Given the description of an element on the screen output the (x, y) to click on. 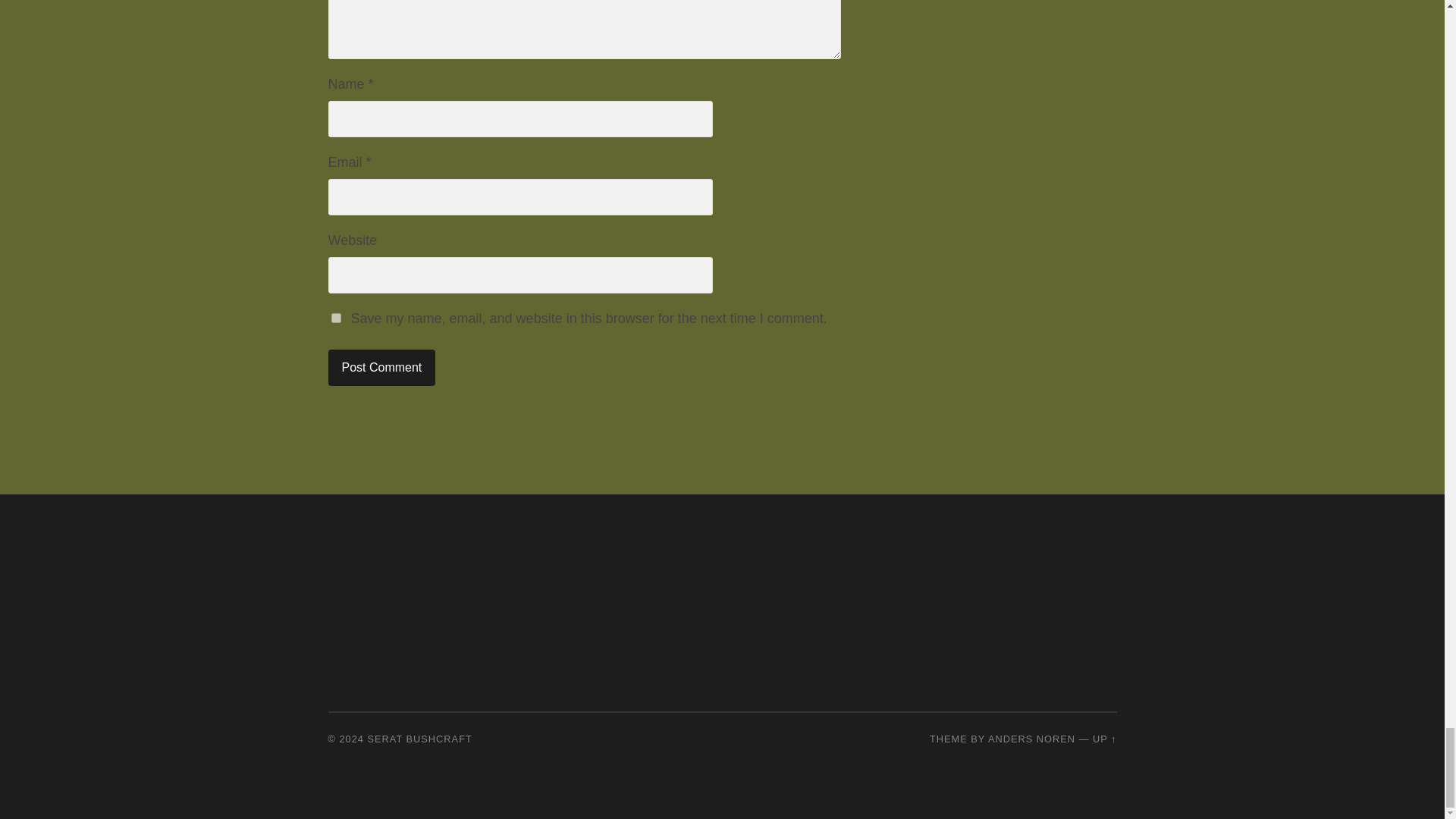
Post Comment (381, 367)
To the top (1104, 738)
yes (335, 317)
Post Comment (381, 367)
